Given the description of an element on the screen output the (x, y) to click on. 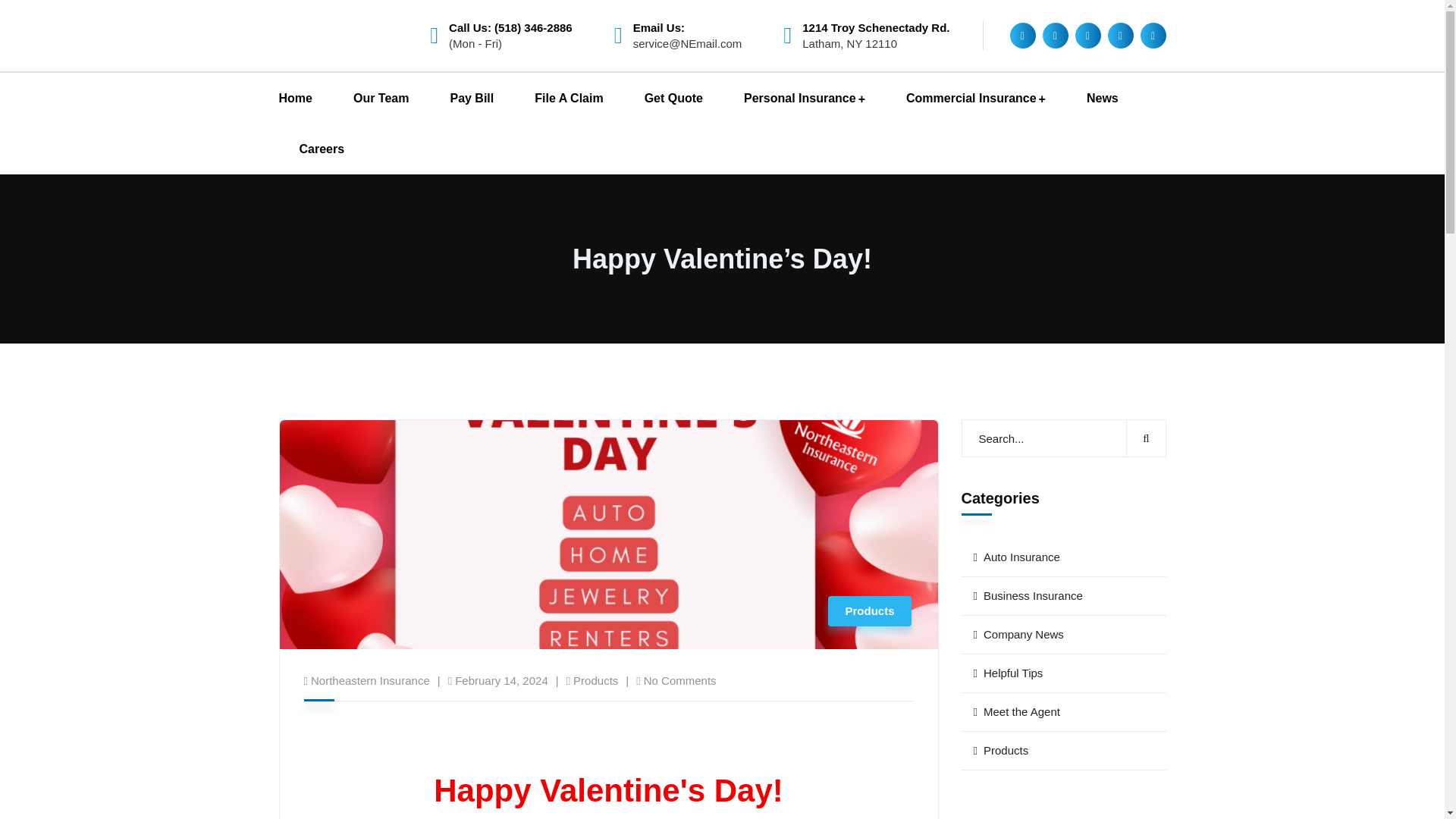
Home (296, 97)
File A Claim (568, 97)
Get Quote (674, 97)
Our Team (381, 97)
Pay Bill (471, 97)
Personal Insurance (804, 97)
Commercial Insurance (975, 97)
Posts by Northeastern Insurance (370, 680)
